Given the description of an element on the screen output the (x, y) to click on. 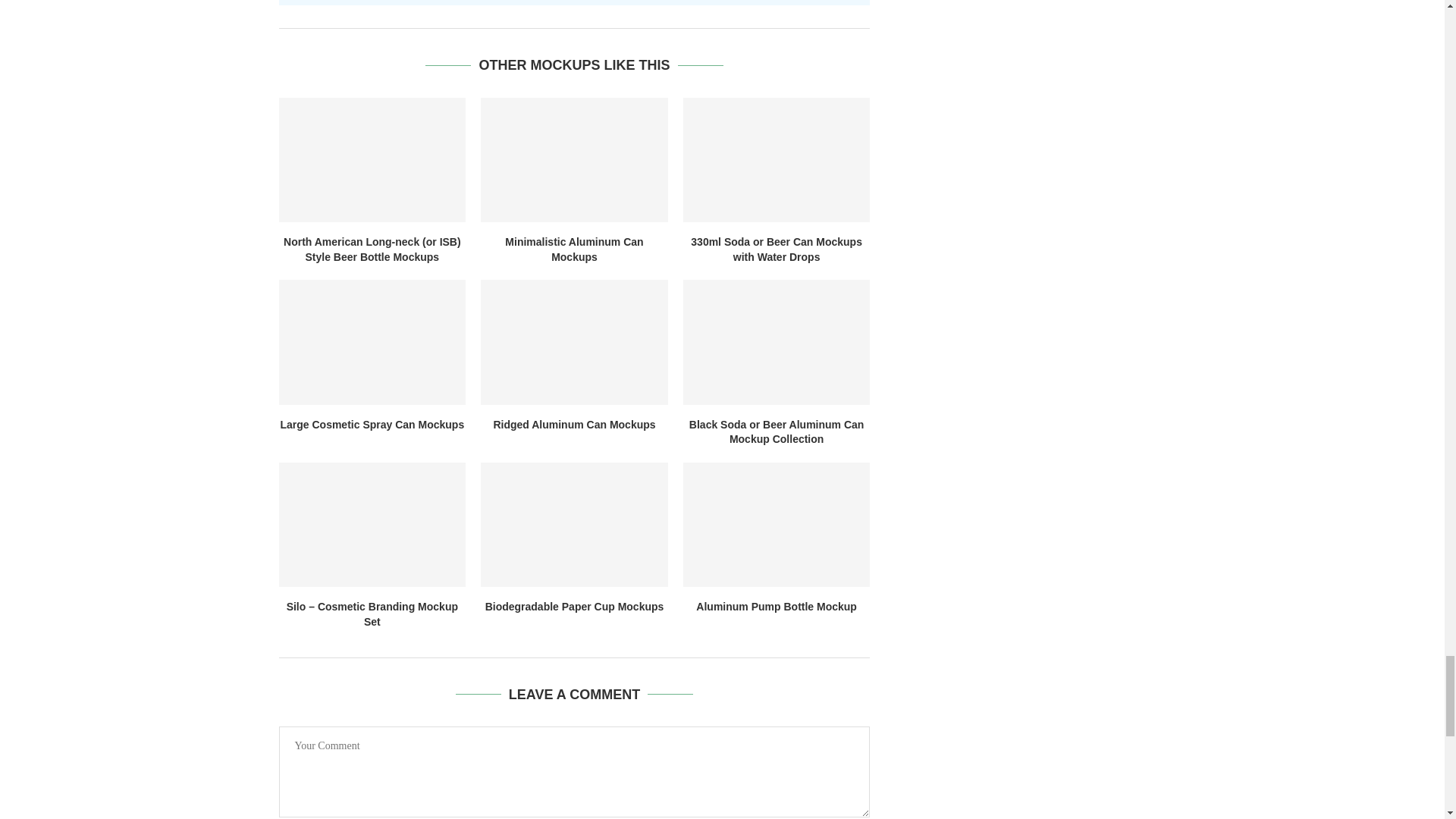
Minimalistic Aluminum Can Mockups (574, 159)
330ml Soda or Beer Can Mockups with Water Drops (776, 159)
